Given the description of an element on the screen output the (x, y) to click on. 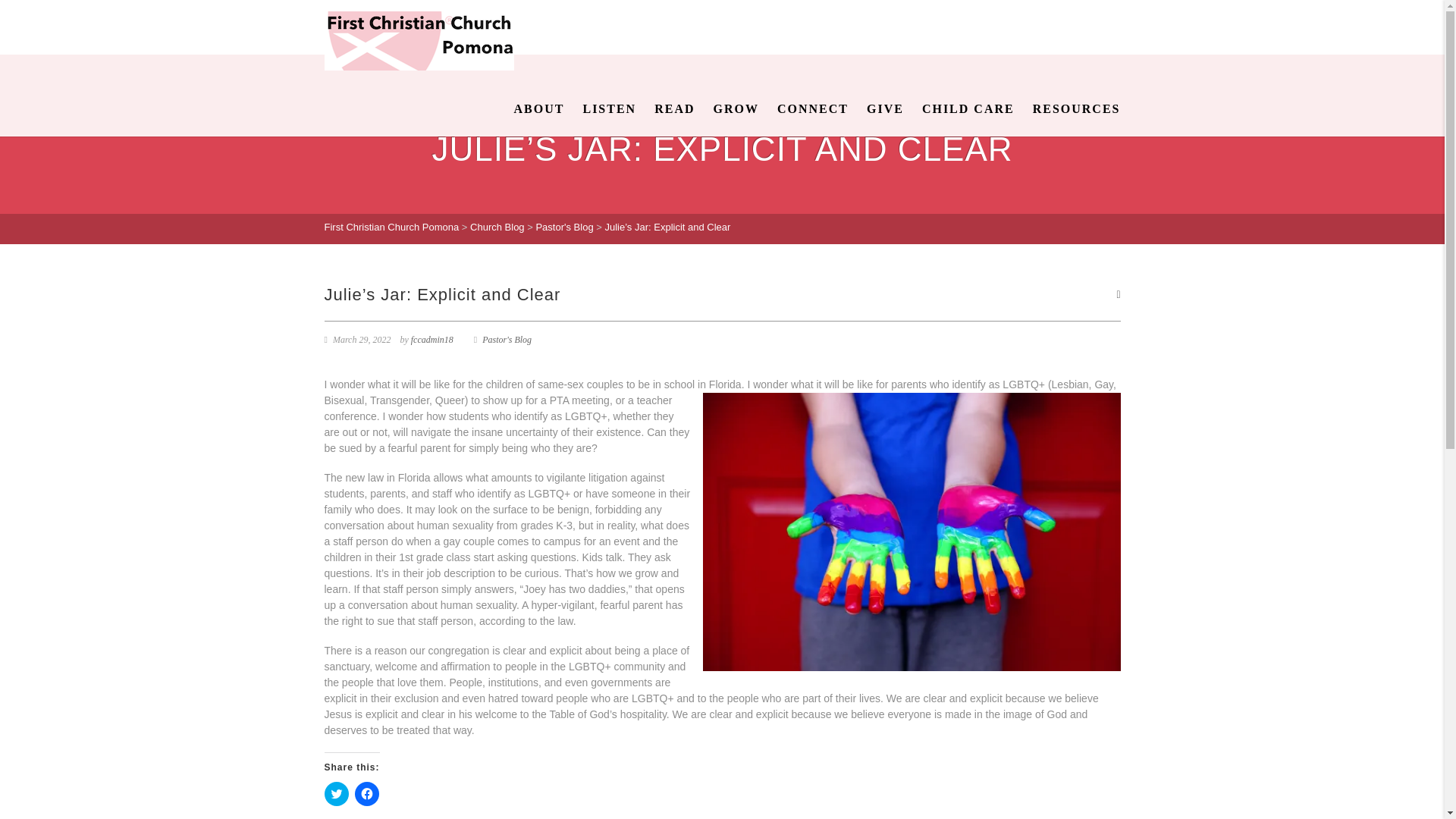
First Christian Church Pomona (392, 226)
GIVE (884, 108)
ABOUT (539, 108)
Click to share on Twitter (336, 793)
CONNECT (812, 108)
fccadmin18 (431, 339)
Click to share on Facebook (366, 793)
GROW (736, 108)
Go to First Christian Church Pomona. (392, 226)
READ (674, 108)
RESOURCES (1072, 108)
Pastor's Blog (506, 339)
Go to the Pastor's Blog category archives. (563, 226)
Logo (418, 40)
LISTEN (609, 108)
